Given the description of an element on the screen output the (x, y) to click on. 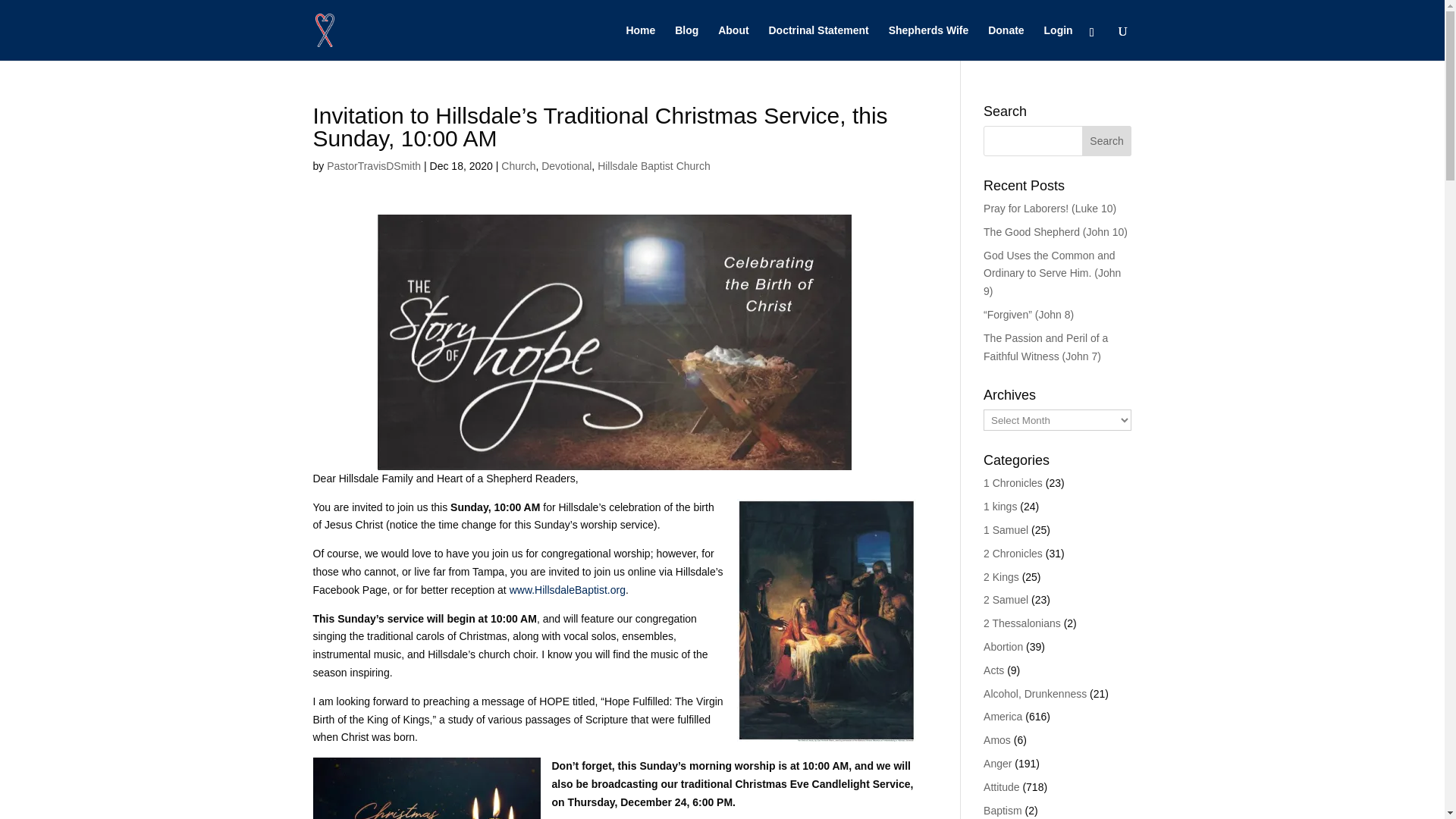
Search (1106, 141)
Shepherds Wife (928, 42)
1 kings (1000, 506)
2 Chronicles (1013, 553)
Hillsdale Baptist Church (653, 165)
Posts by PastorTravisDSmith (373, 165)
Donate (1005, 42)
1 Chronicles (1013, 482)
Church (517, 165)
www.HillsdaleBaptist.org (567, 589)
